Given the description of an element on the screen output the (x, y) to click on. 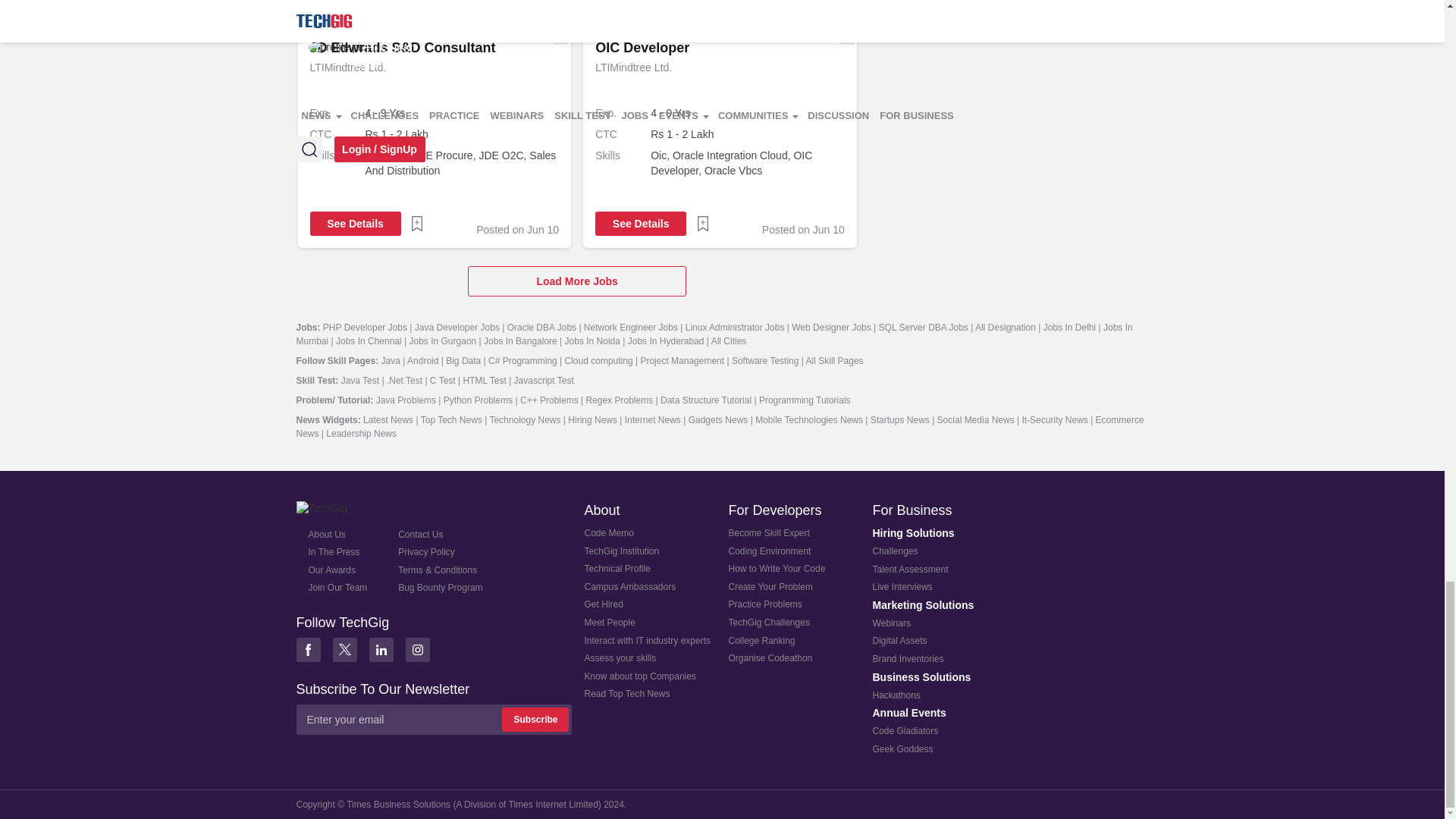
Save Job (416, 1)
Sourced from TJ (560, 36)
Save Job (702, 1)
oic, oracle integration cloud, OIC developer, oracle vb... (747, 163)
JDE P2P, JDE Procure, JDE O2C, sales and distribution (462, 163)
Sourced from TJ (846, 36)
Subscribe (535, 719)
Save Job (416, 223)
Save Job (702, 223)
